Given the description of an element on the screen output the (x, y) to click on. 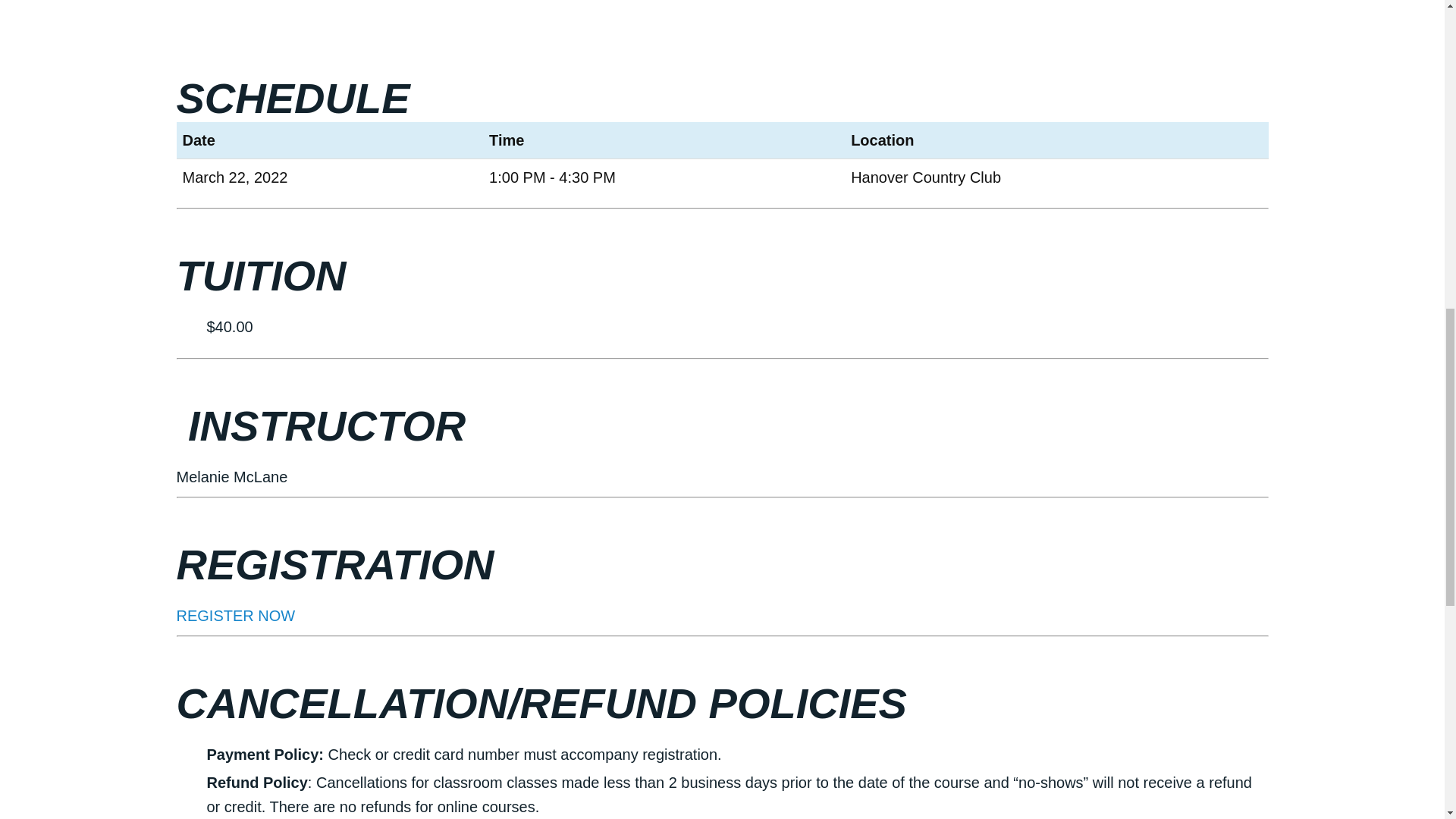
Register Now (235, 615)
